Given the description of an element on the screen output the (x, y) to click on. 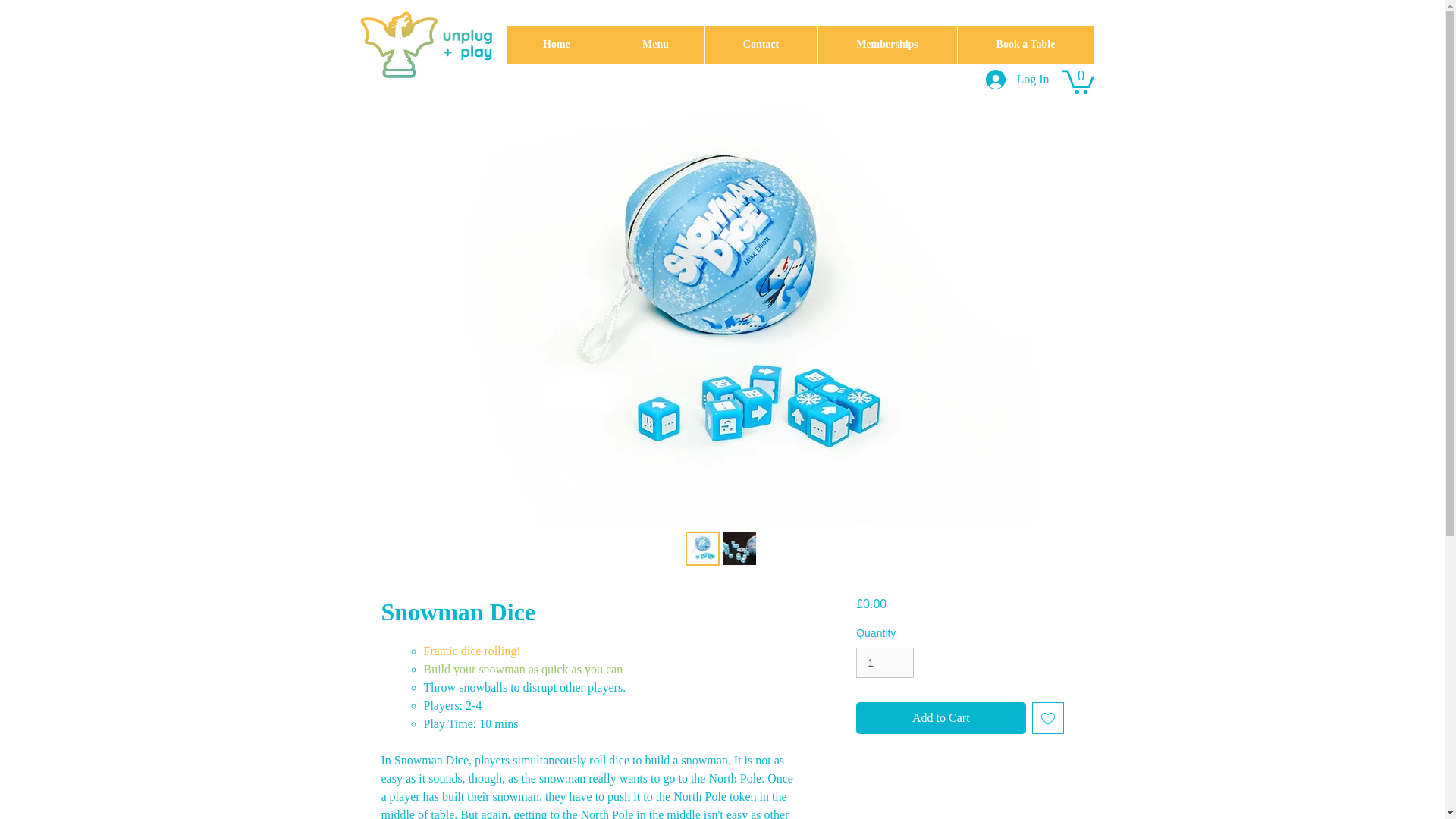
0 (1077, 80)
Log In (1017, 79)
1 (885, 662)
Memberships (886, 44)
Contact (759, 44)
0 (1077, 80)
Book a Table (1025, 44)
Home (555, 44)
Menu (655, 44)
Add to Cart (940, 717)
